Given the description of an element on the screen output the (x, y) to click on. 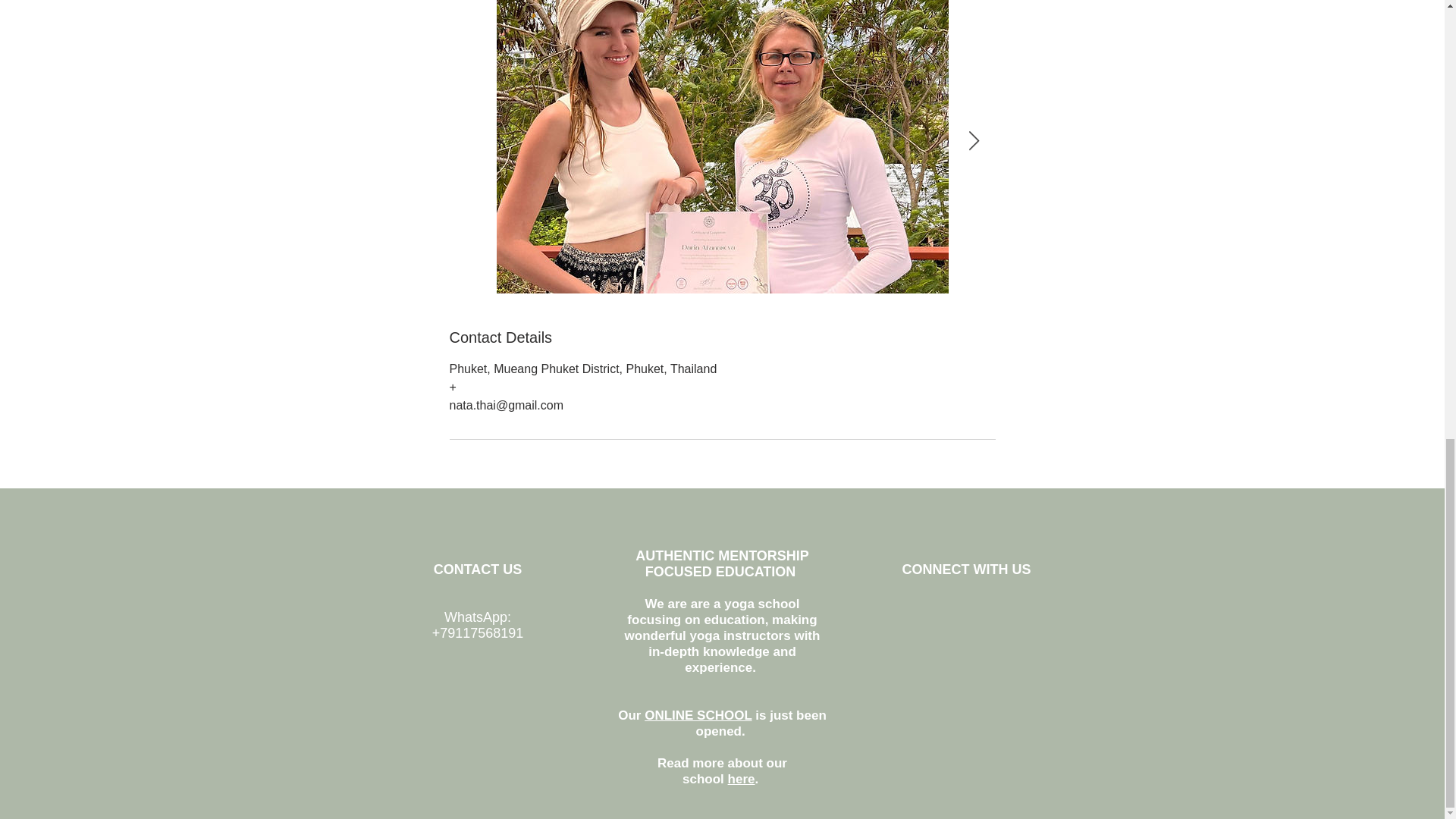
here (741, 779)
ONLINE SCHOOL (698, 715)
